Given the description of an element on the screen output the (x, y) to click on. 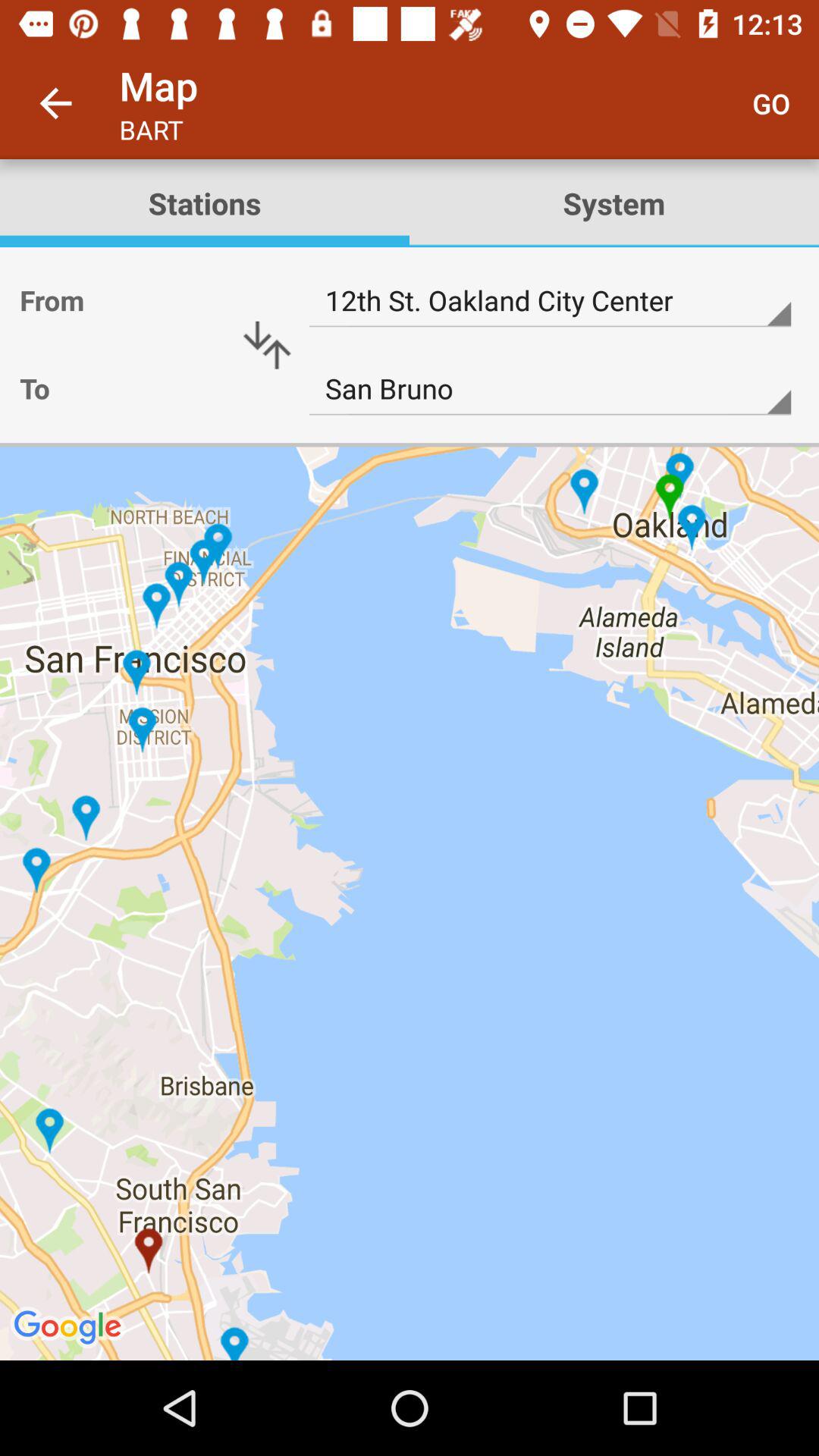
select item above san bruno (550, 300)
